Given the description of an element on the screen output the (x, y) to click on. 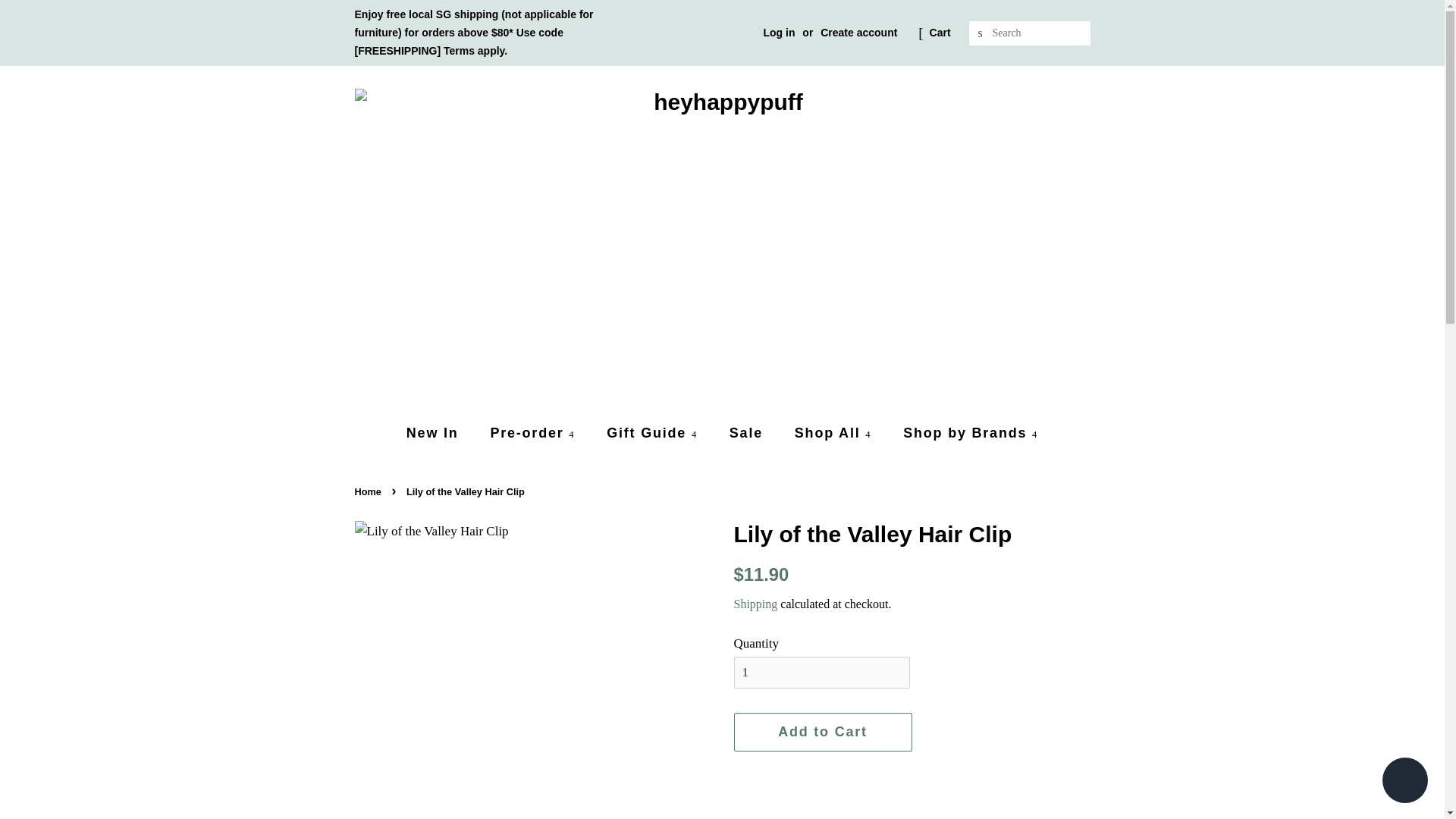
Create account (858, 32)
Search (980, 33)
Log in (778, 32)
1 (821, 672)
Shopify online store chat (1404, 781)
Cart (940, 33)
Back to the frontpage (370, 491)
